Given the description of an element on the screen output the (x, y) to click on. 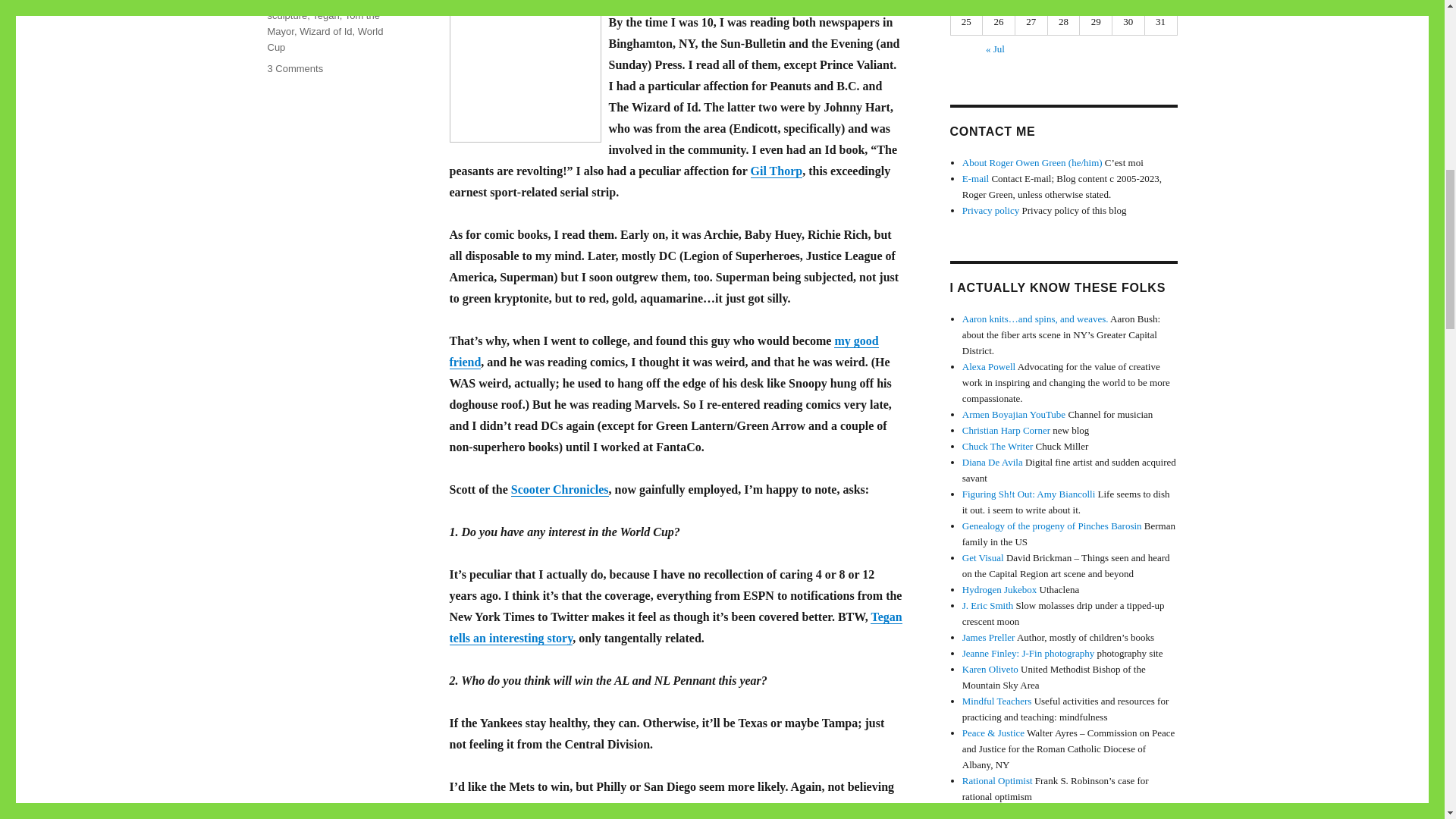
Channel for musician (1013, 414)
Chuck Miller (997, 446)
Privacy policy of this blog (990, 210)
my good friend (662, 351)
Tegan (326, 15)
Wizard of Id (325, 30)
Scooter Chronicles (339, 2)
new blog (1005, 430)
Tegan tells an interesting story (674, 627)
